Given the description of an element on the screen output the (x, y) to click on. 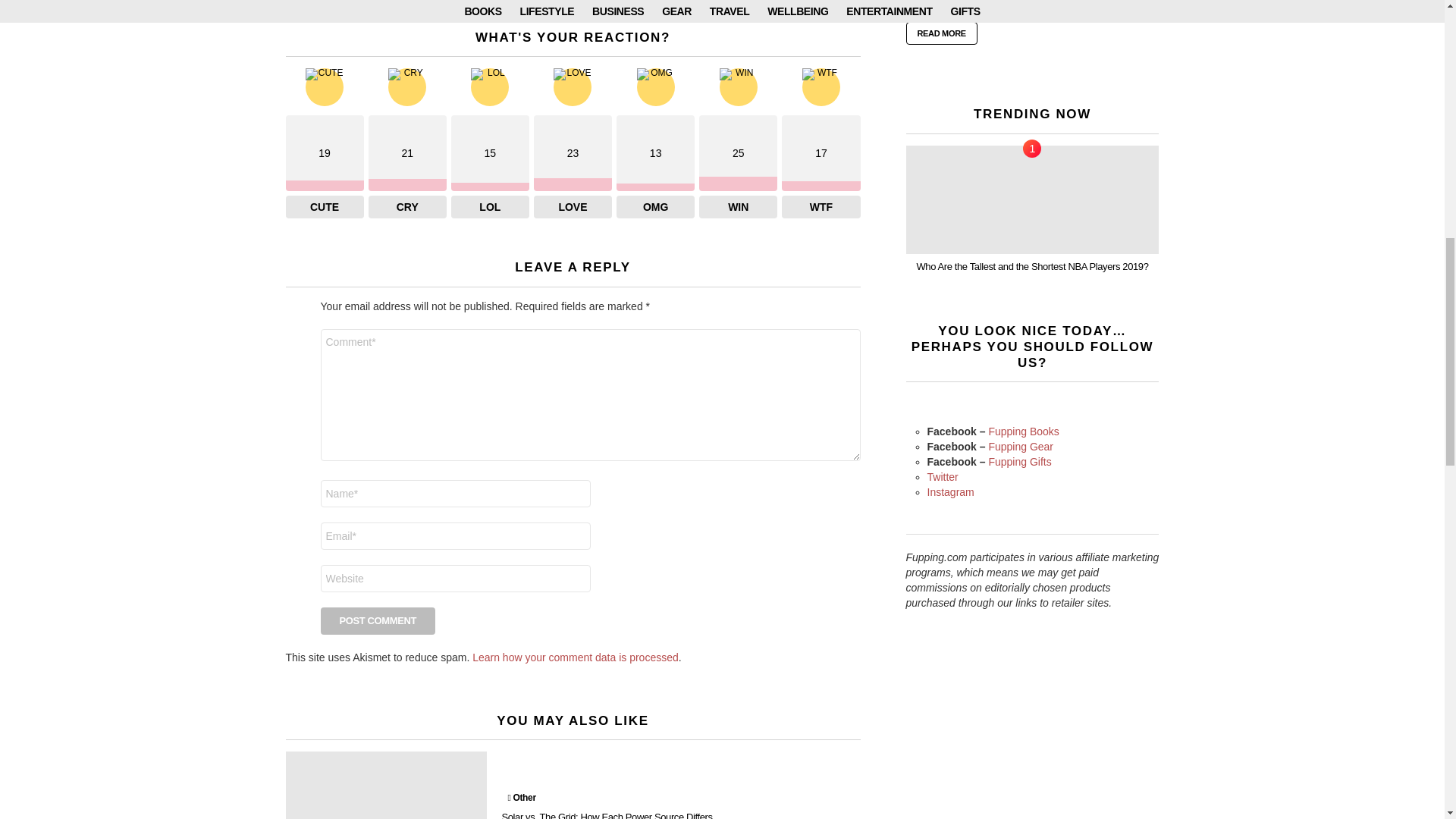
Solar vs. The Grid: How Each Power Source Differs (385, 785)
Who Are the Tallest and the Shortest NBA Players 2019? (1031, 199)
Post Comment (377, 620)
